Given the description of an element on the screen output the (x, y) to click on. 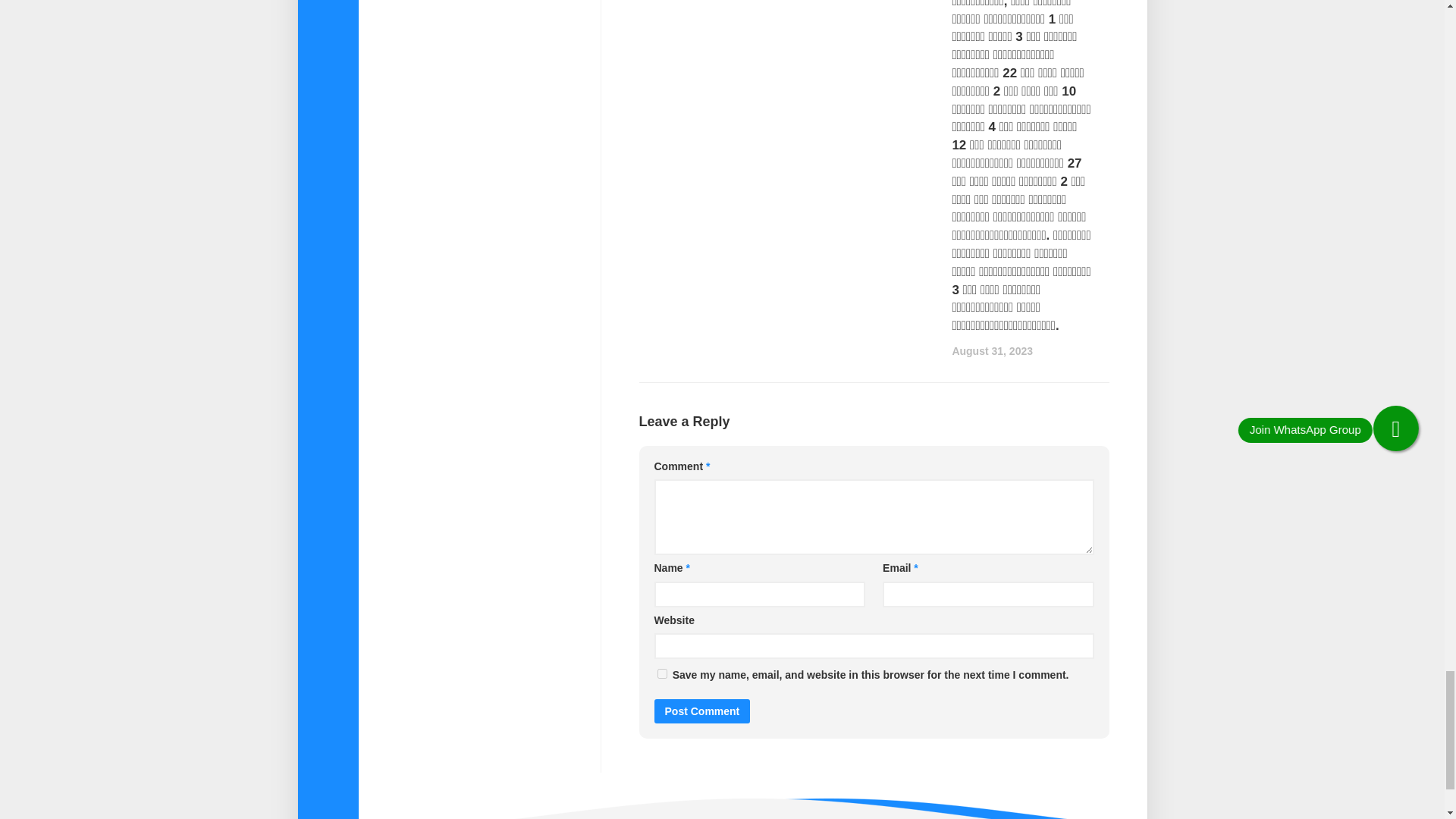
yes (661, 673)
Post Comment (701, 711)
Post Comment (701, 711)
